Given the description of an element on the screen output the (x, y) to click on. 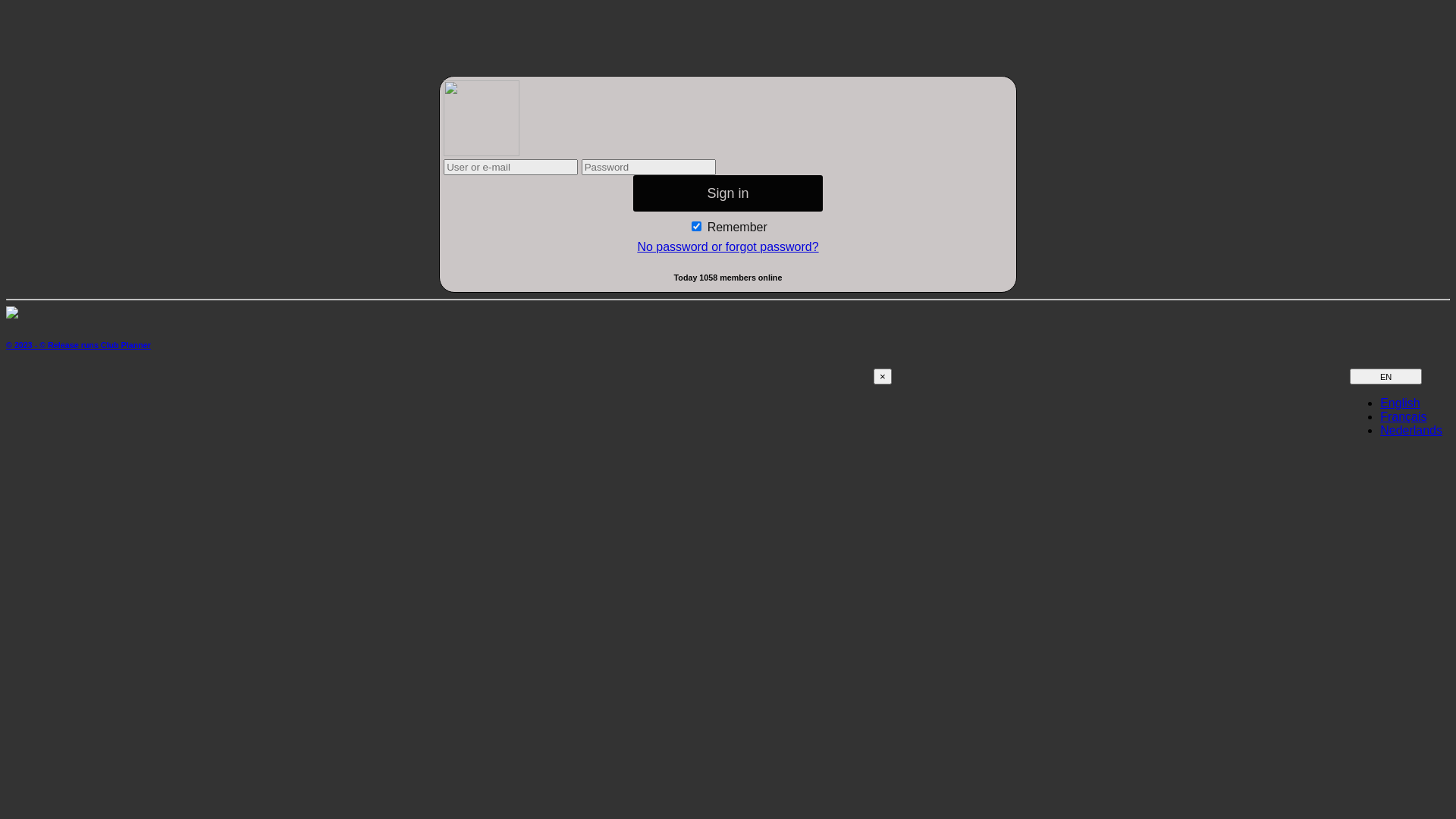
English Element type: text (1399, 402)
EN Element type: text (1385, 376)
Nederlands Element type: text (1411, 429)
Sign in Element type: text (727, 193)
No password or forgot password? Element type: text (727, 246)
